Given the description of an element on the screen output the (x, y) to click on. 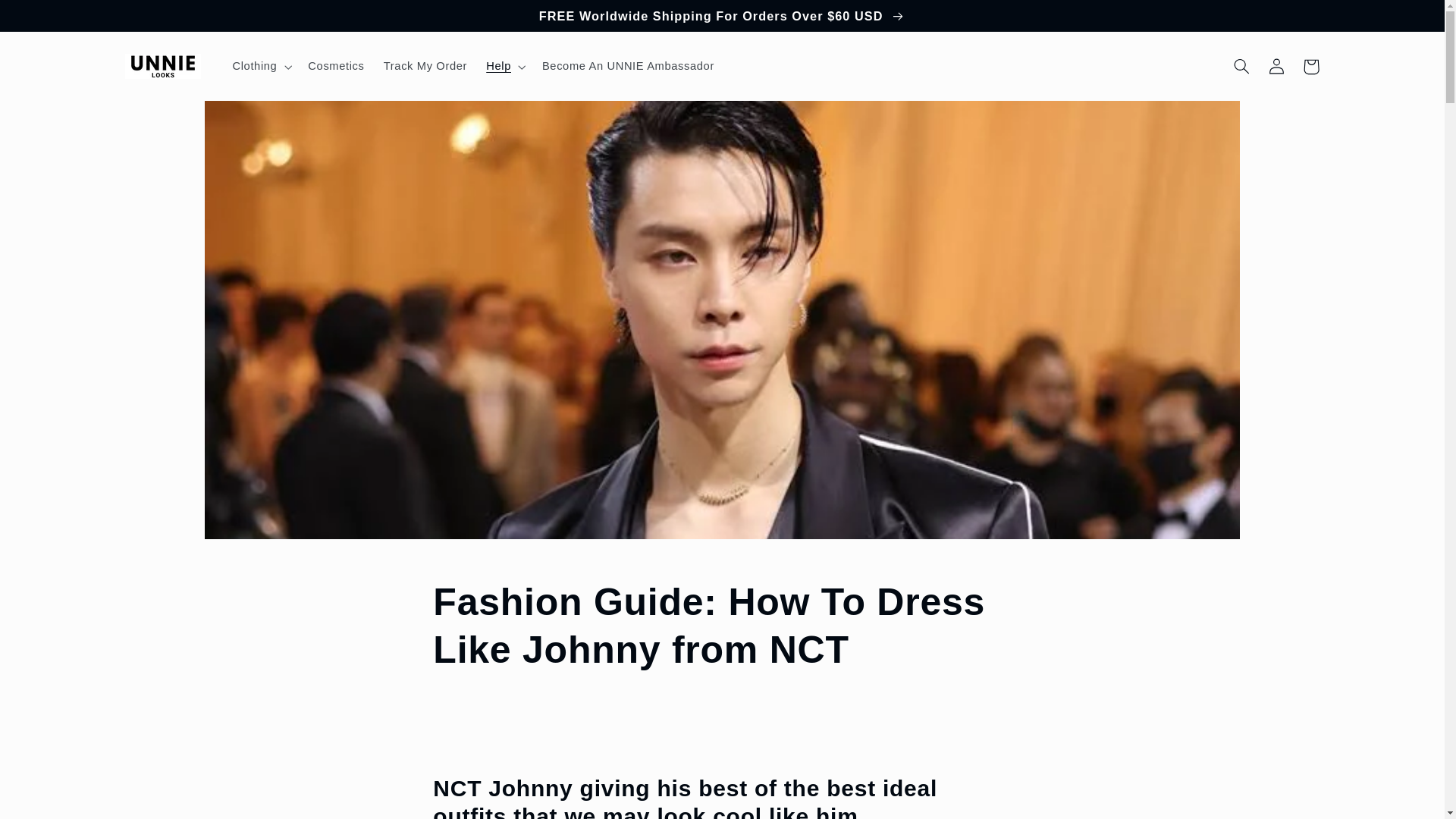
Skip to content (48, 18)
